Given the description of an element on the screen output the (x, y) to click on. 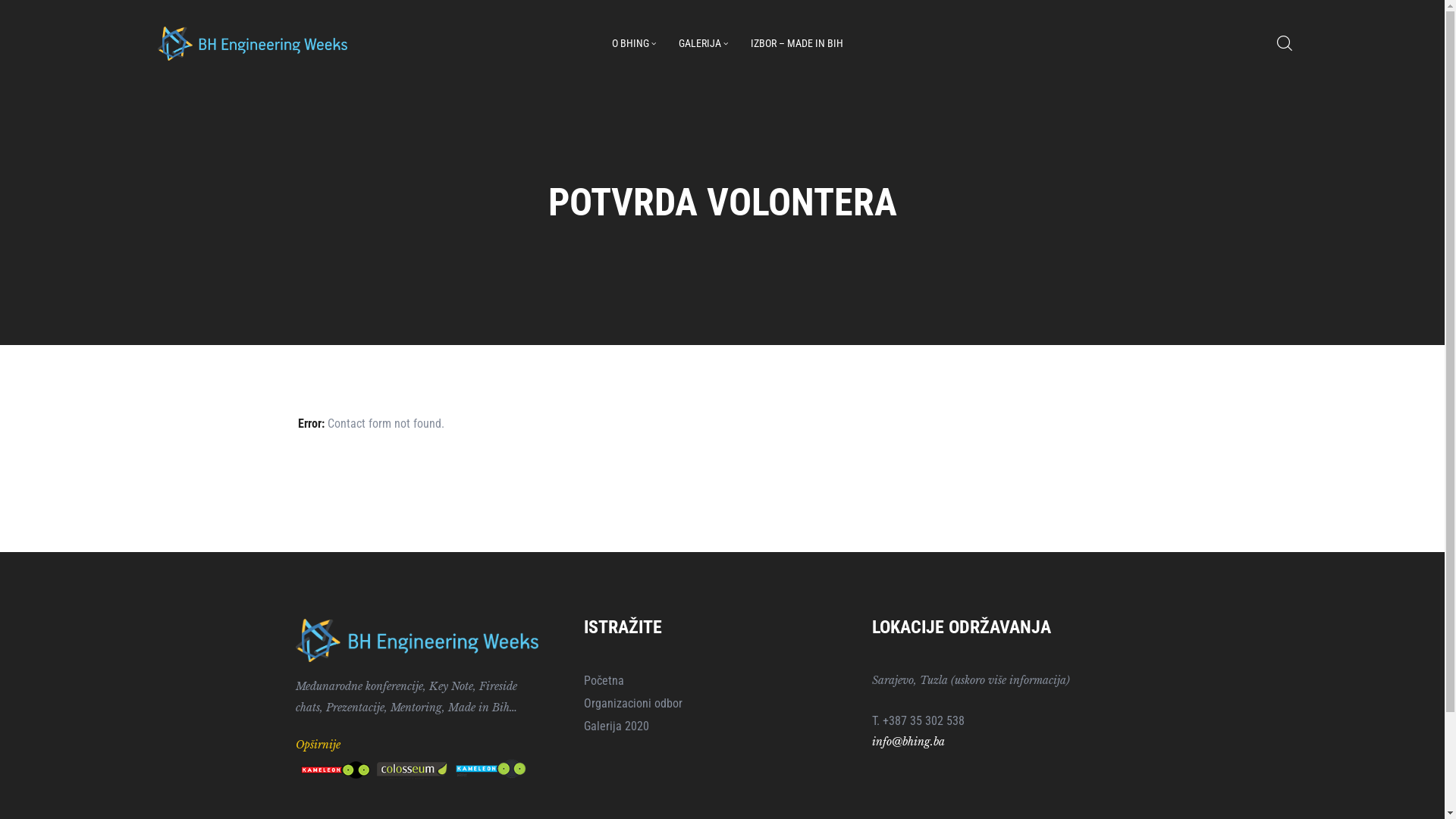
Organizacioni odbor Element type: text (721, 703)
i Element type: text (873, 741)
GALERIJA Element type: text (703, 43)
O BHING Element type: text (633, 43)
Galerija 2020 Element type: text (721, 726)
